Given the description of an element on the screen output the (x, y) to click on. 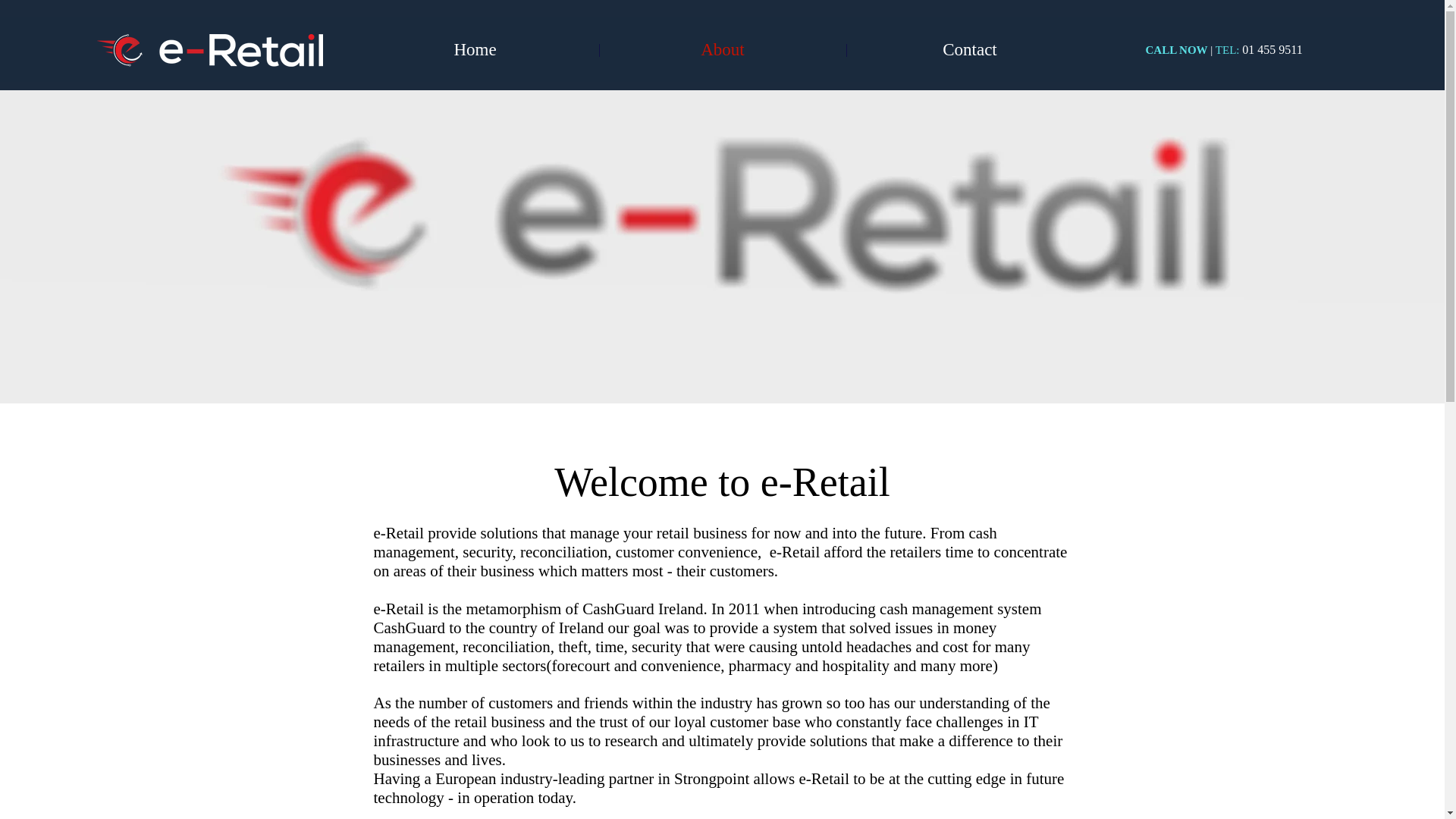
Home (475, 50)
About (721, 50)
Contact (969, 50)
